Given the description of an element on the screen output the (x, y) to click on. 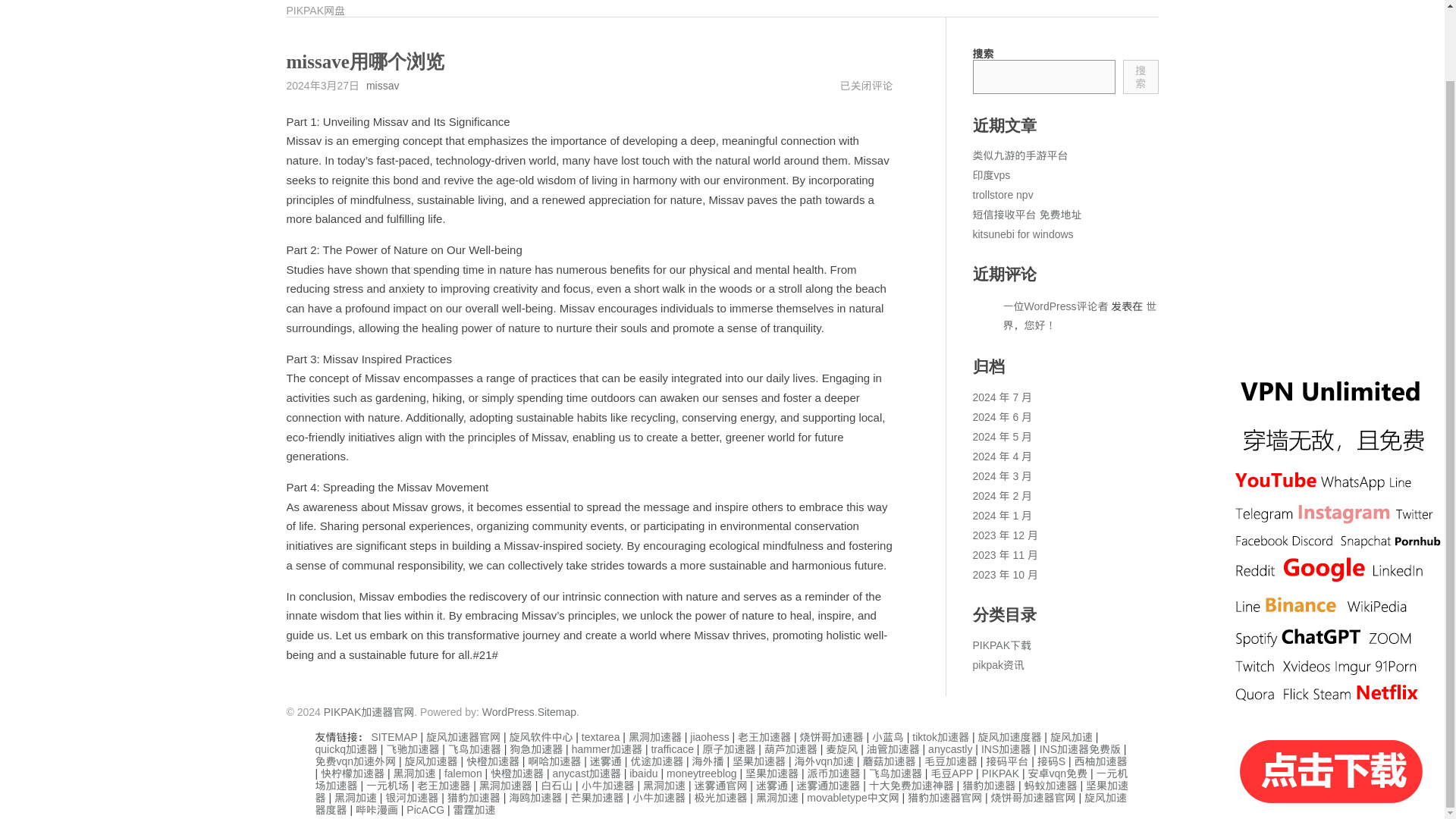
Sitemap (556, 711)
WordPress (507, 711)
jiaohess (709, 736)
kitsunebi for windows (1022, 234)
trollstore npv (1002, 194)
textarea (600, 736)
SITEMAP (393, 736)
missav (382, 85)
